Given the description of an element on the screen output the (x, y) to click on. 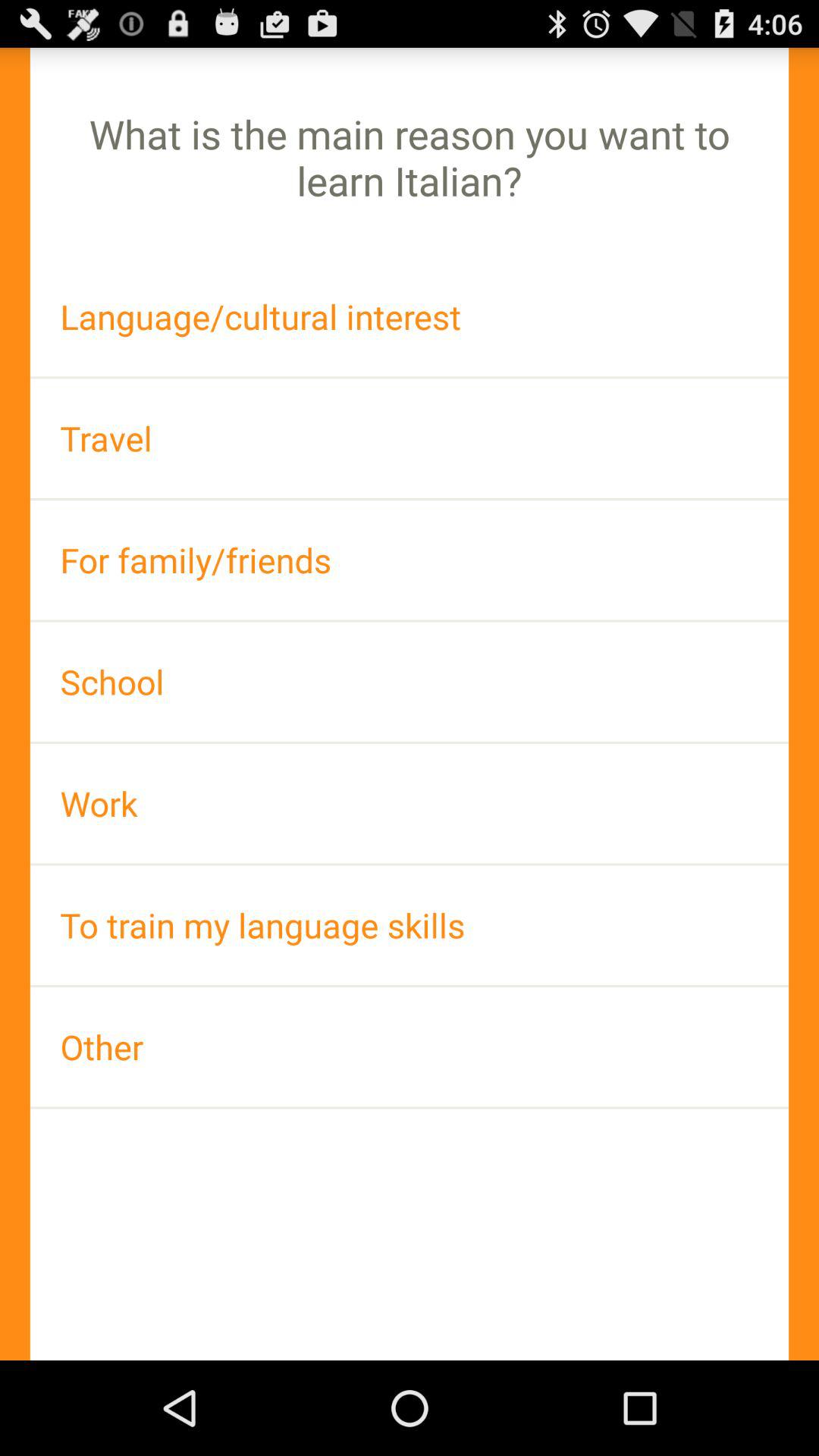
scroll to to train my item (409, 925)
